Given the description of an element on the screen output the (x, y) to click on. 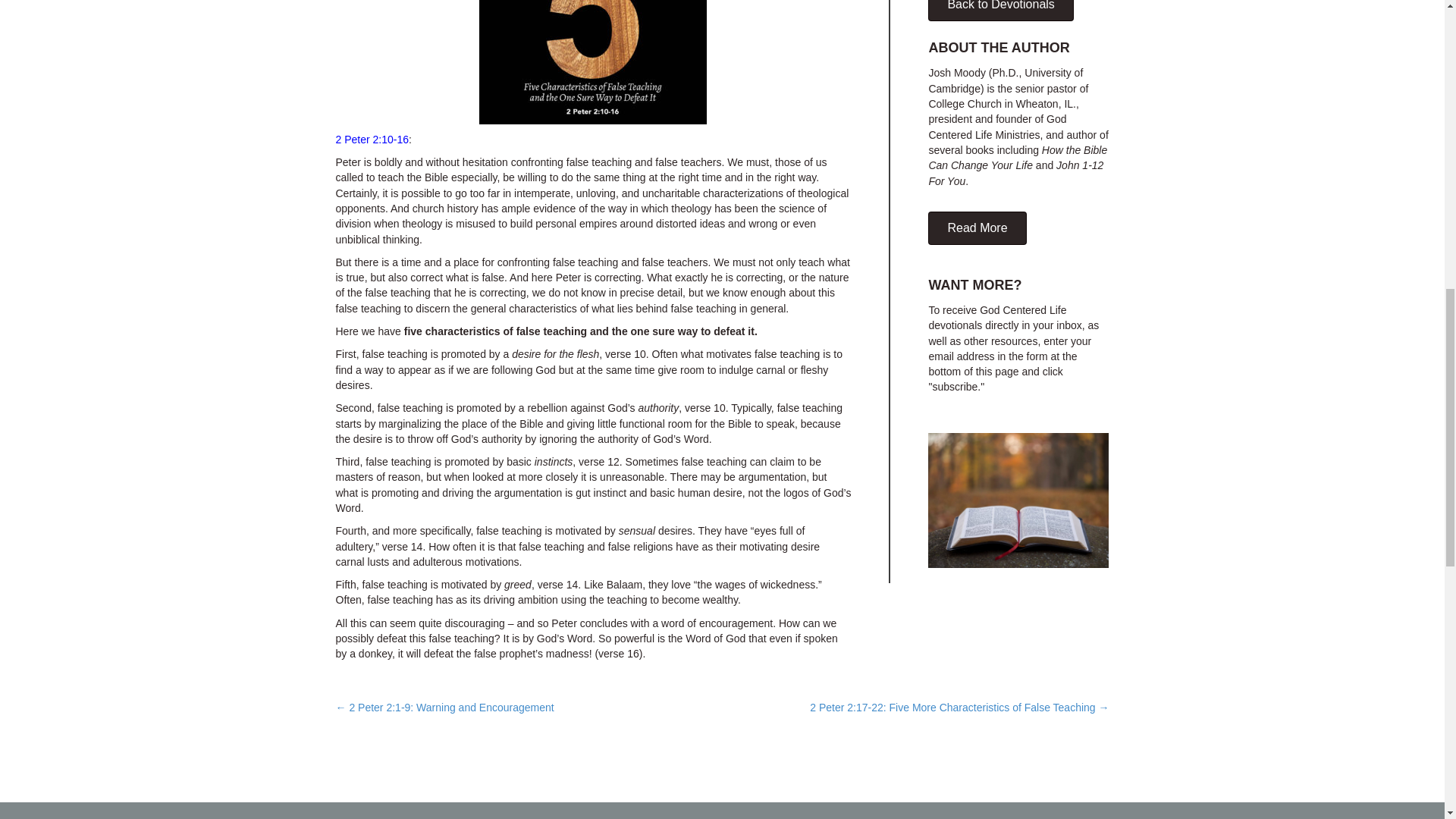
Back to Devotionals (1000, 10)
faith-statement01 (1018, 500)
2 Peter 2:10-16 (371, 139)
Read More (977, 227)
